Given the description of an element on the screen output the (x, y) to click on. 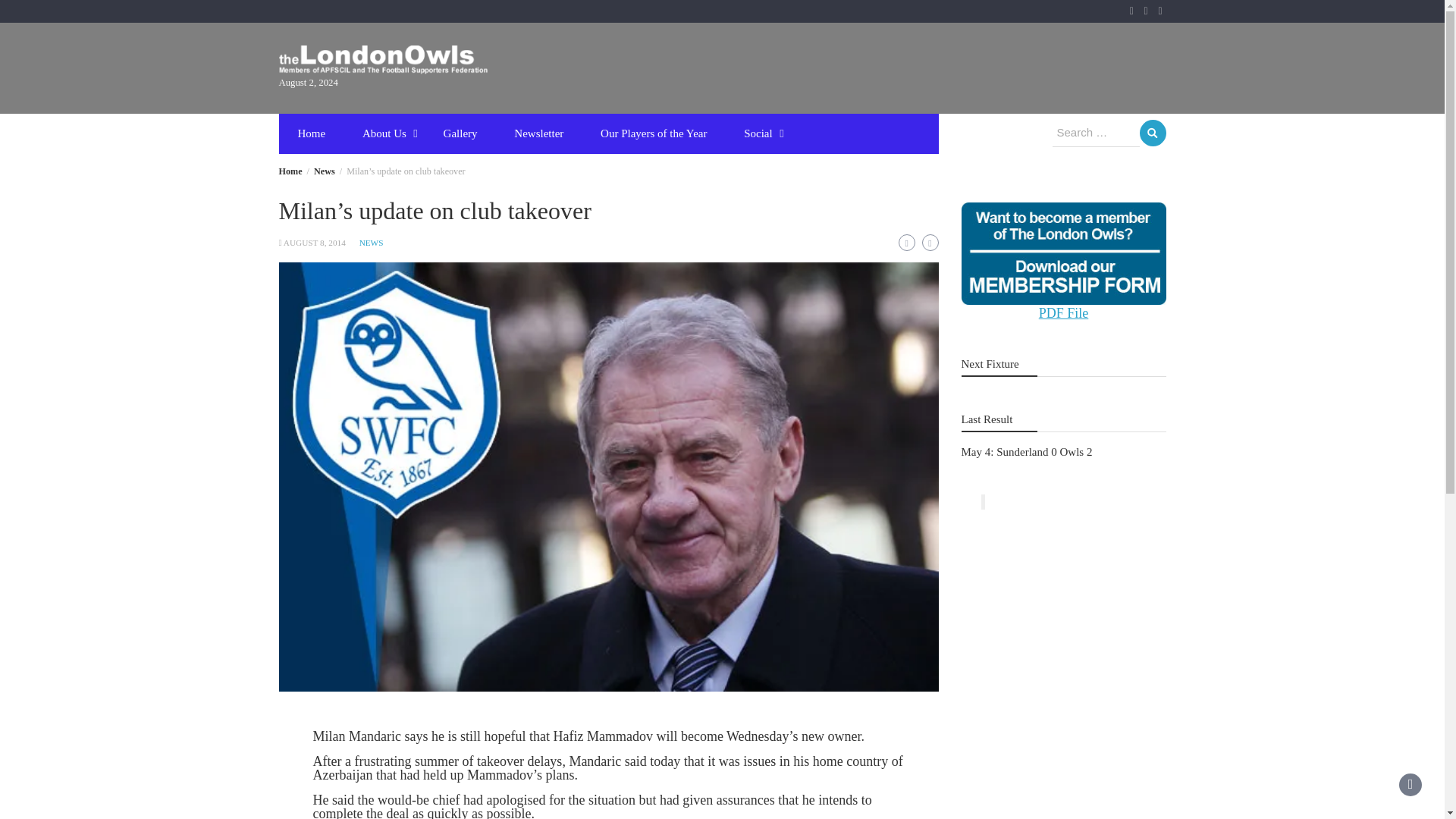
Search (1152, 132)
Newsletter (538, 133)
Search (1152, 132)
NEWS (371, 242)
Search for: (1096, 133)
News (324, 171)
Search (1152, 132)
Social (758, 133)
PDF File (1064, 313)
Home (311, 133)
